Given the description of an element on the screen output the (x, y) to click on. 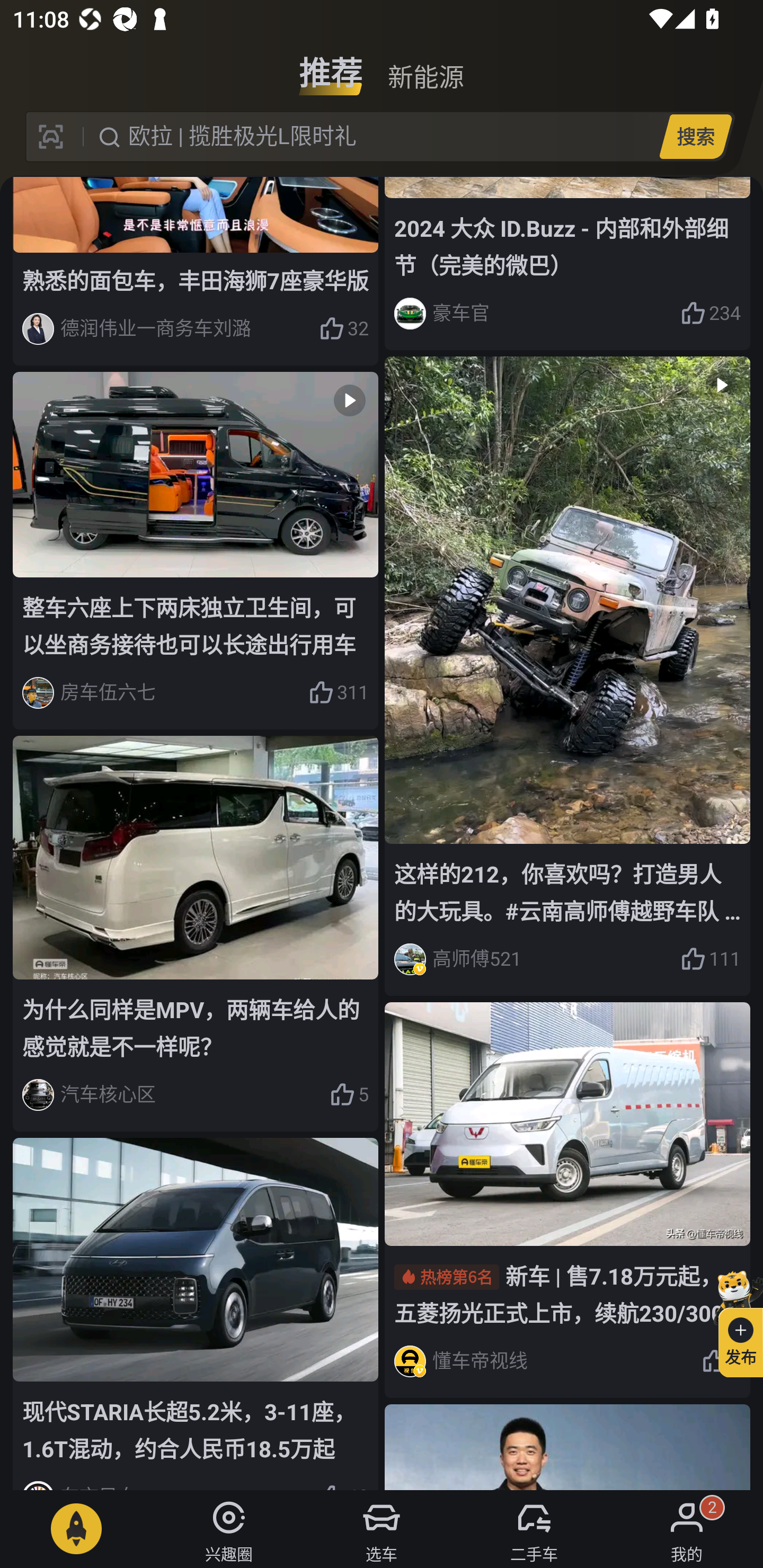
推荐 (330, 65)
新能源 (425, 65)
搜索 (695, 136)
熟悉的面包车，丰田海狮7座豪华版 德润伟业一商务车刘潞 32 (195, 271)
2024 大众 ID.Buzz - 内部和外部细节（完美的微巴） 豪车官 234 (567, 263)
234 (710, 313)
32 (343, 328)
 整车六座上下两床独立卫生间，可以坐商务接待也可以长途出行用车 房车伍六七 311 (195, 550)
311 (338, 692)
为什么同样是MPV，两辆车给人的感觉就是不一样呢？ 汽车核心区 5 (195, 933)
111 (710, 959)
 热榜第6名 新车 | 售7.18万元起，五菱扬光正式上市，续航230/300公里 懂车帝视线 4 (567, 1199)
5 (348, 1094)
现代STARIA长超5.2米，3-11座，1.6T混动，约合人民币18.5万起 车市风向 60 (195, 1313)
发布 (732, 1321)
 兴趣圈 (228, 1528)
 选车 (381, 1528)
 二手车 (533, 1528)
 我的 (686, 1528)
